Given the description of an element on the screen output the (x, y) to click on. 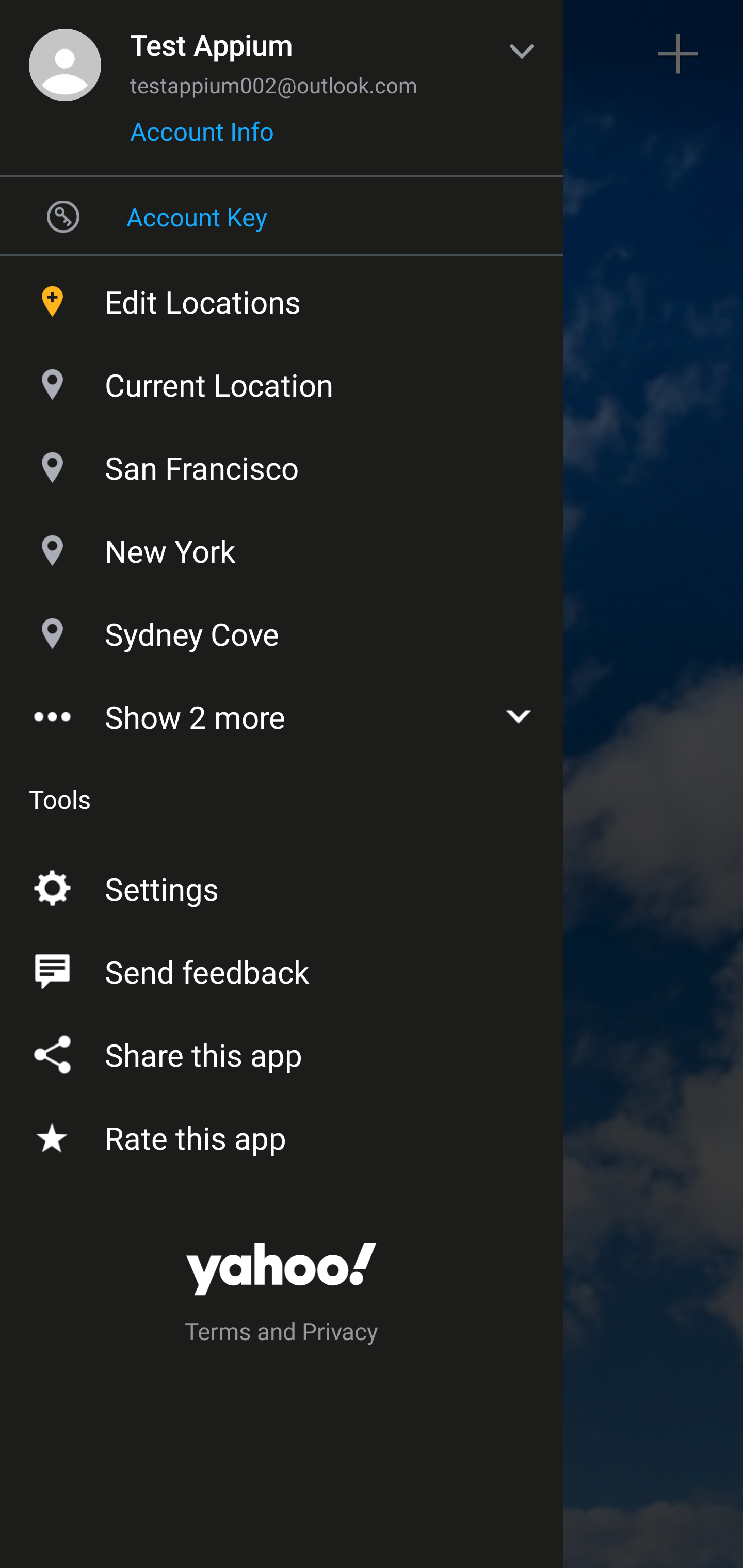
Sidebar (64, 54)
Account Info (202, 137)
Account Key (281, 216)
Edit Locations (281, 296)
Current Location (281, 379)
San Francisco (281, 462)
New York (281, 546)
Sydney Cove (281, 629)
Settings (281, 884)
Send feedback (281, 967)
Share this app (281, 1050)
Terms and Privacy Terms and privacy button (281, 1334)
